Given the description of an element on the screen output the (x, y) to click on. 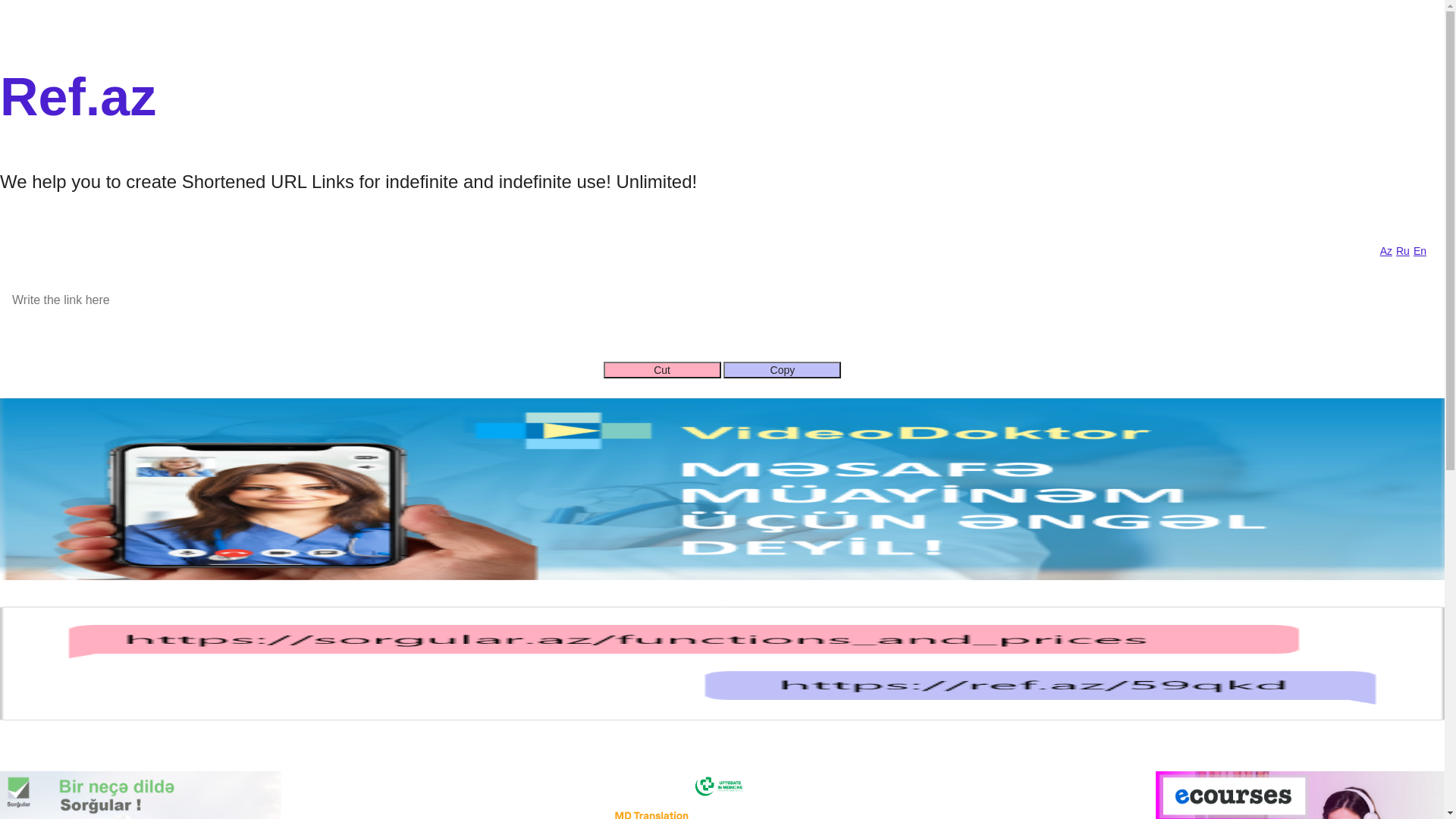
Az Element type: text (1384, 250)
Copy Element type: text (781, 369)
Ru Element type: text (1400, 250)
En Element type: text (1417, 250)
Cut Element type: text (662, 369)
